Given the description of an element on the screen output the (x, y) to click on. 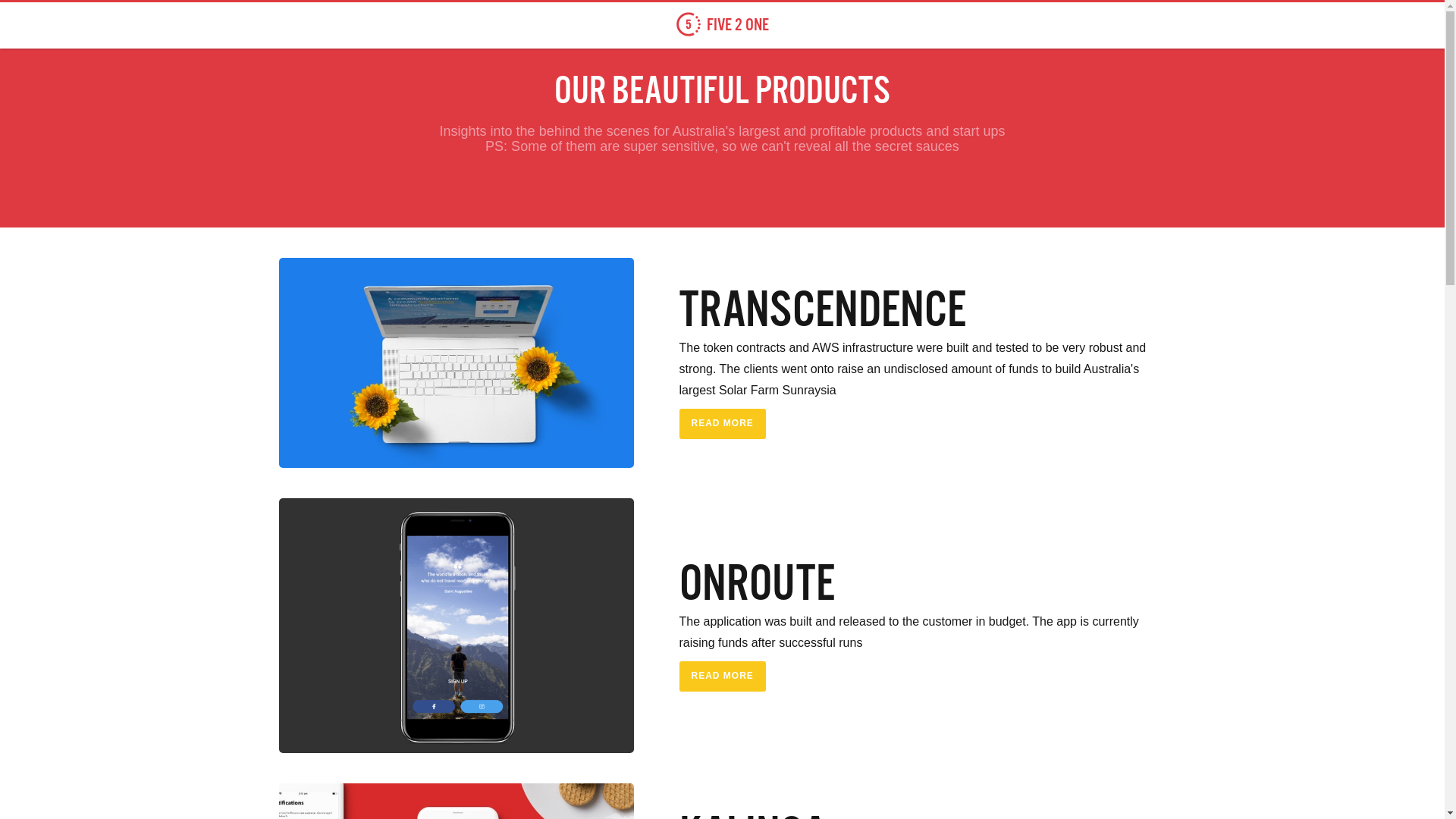
READ MORE Element type: text (722, 423)
FIVE 2 ONE Element type: text (722, 24)
READ MORE Element type: text (722, 676)
